Given the description of an element on the screen output the (x, y) to click on. 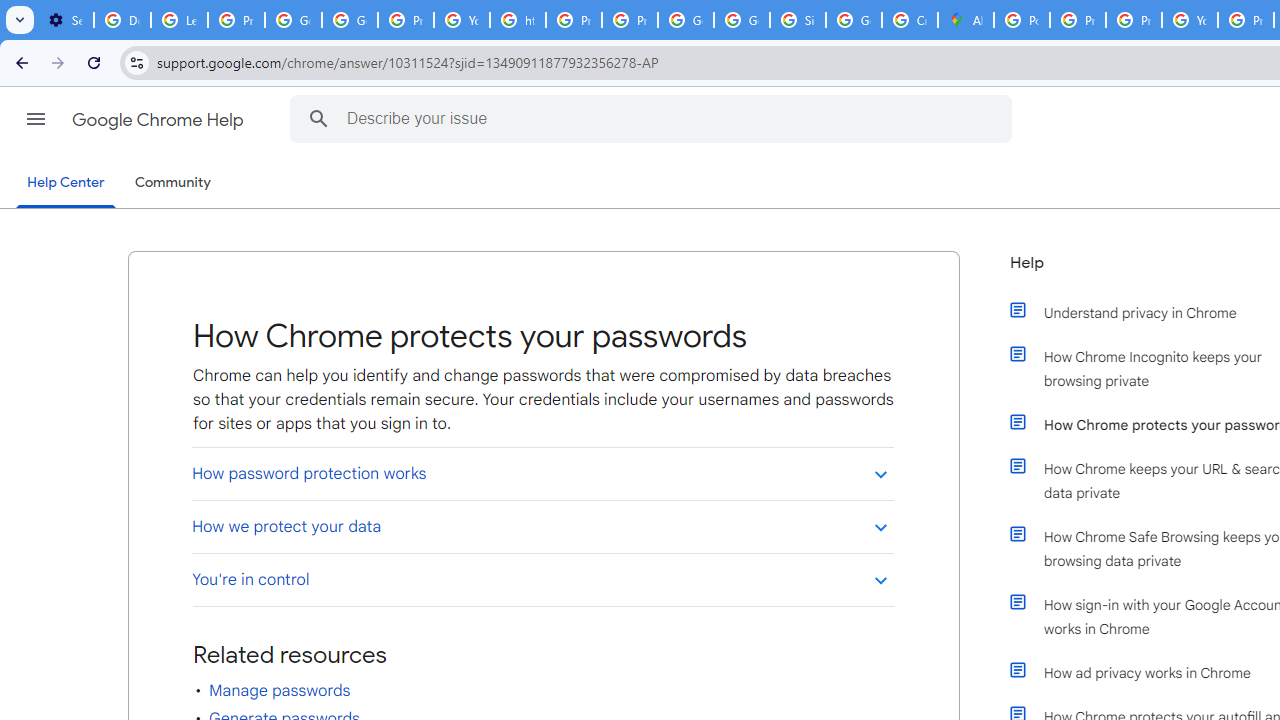
You're in control (542, 579)
Describe your issue (653, 118)
Google Account Help (293, 20)
Sign in - Google Accounts (797, 20)
Search Help Center (318, 118)
YouTube (461, 20)
